Given the description of an element on the screen output the (x, y) to click on. 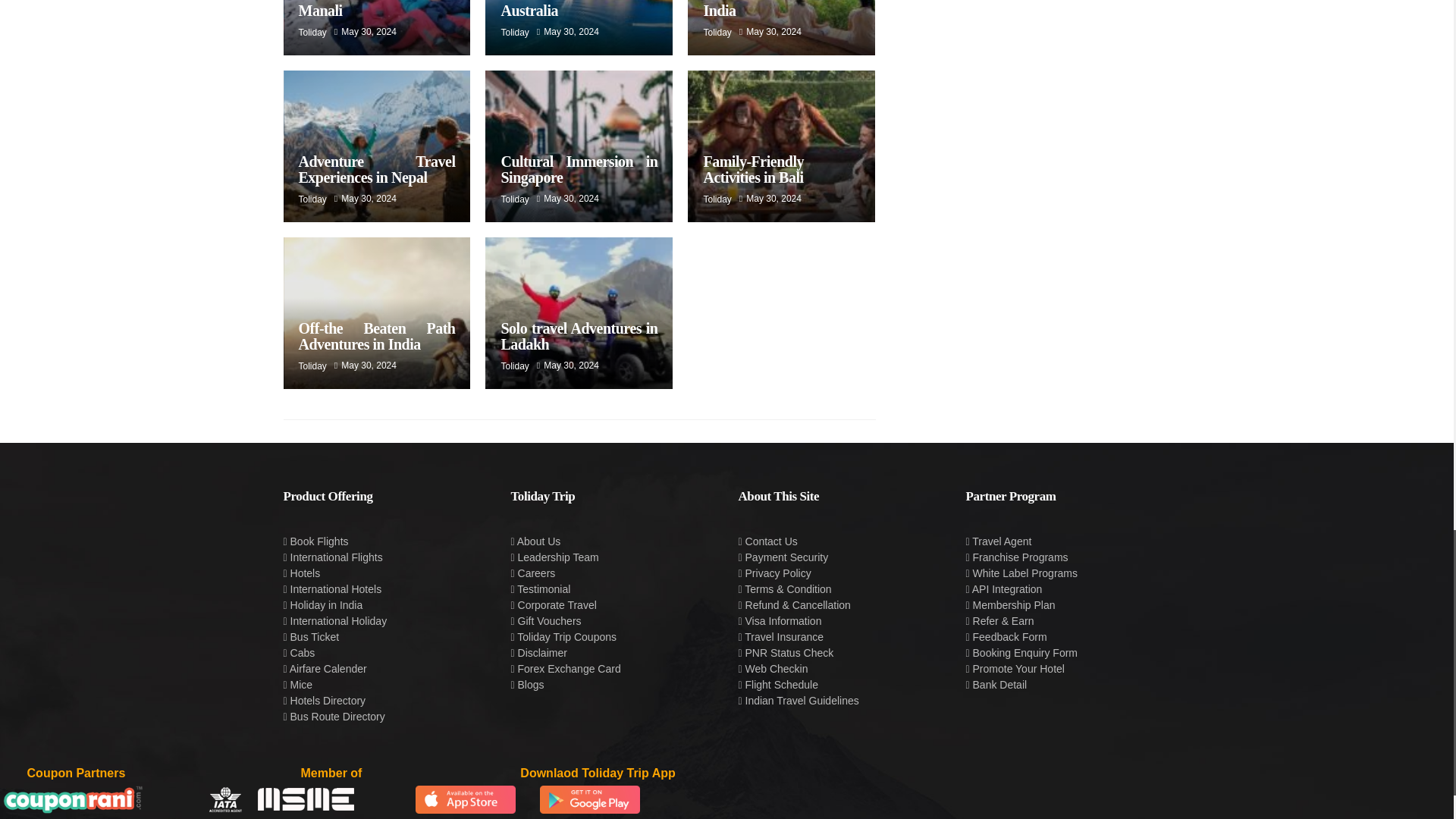
Wellness Retreats in India (781, 9)
Toliday (716, 199)
Every people are enjoy with the job that they love (376, 145)
Every people are enjoy with the job that they love (578, 27)
Toliday (312, 199)
Adventure Travel Experiences in Nepal (376, 169)
Family-Friendly Activities in Bali (753, 169)
Cultural Immersion in Singapore (579, 169)
Toliday (716, 32)
Every people are enjoy with the job that they love (376, 27)
